Given the description of an element on the screen output the (x, y) to click on. 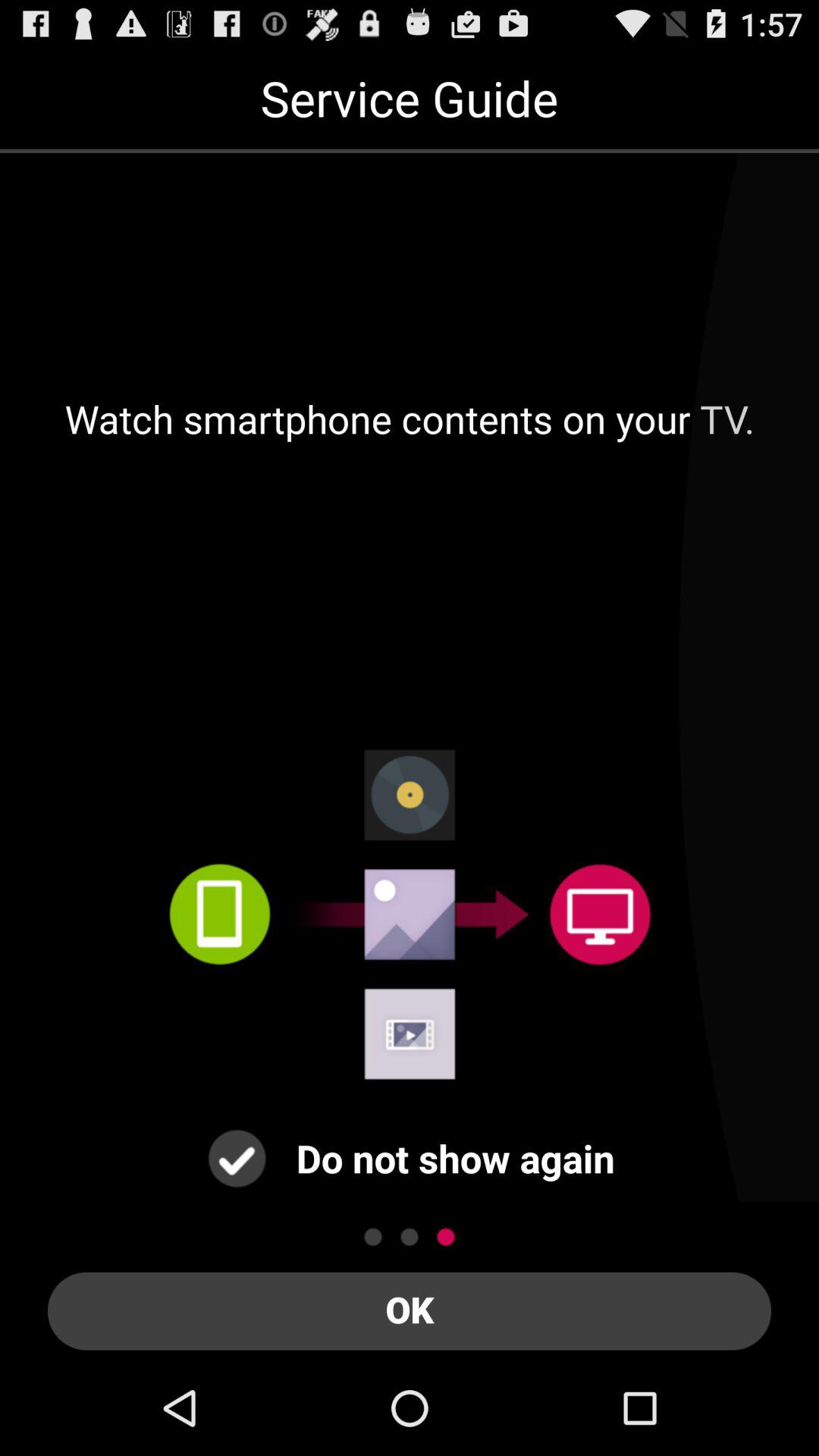
select do not show again (237, 1158)
